Given the description of an element on the screen output the (x, y) to click on. 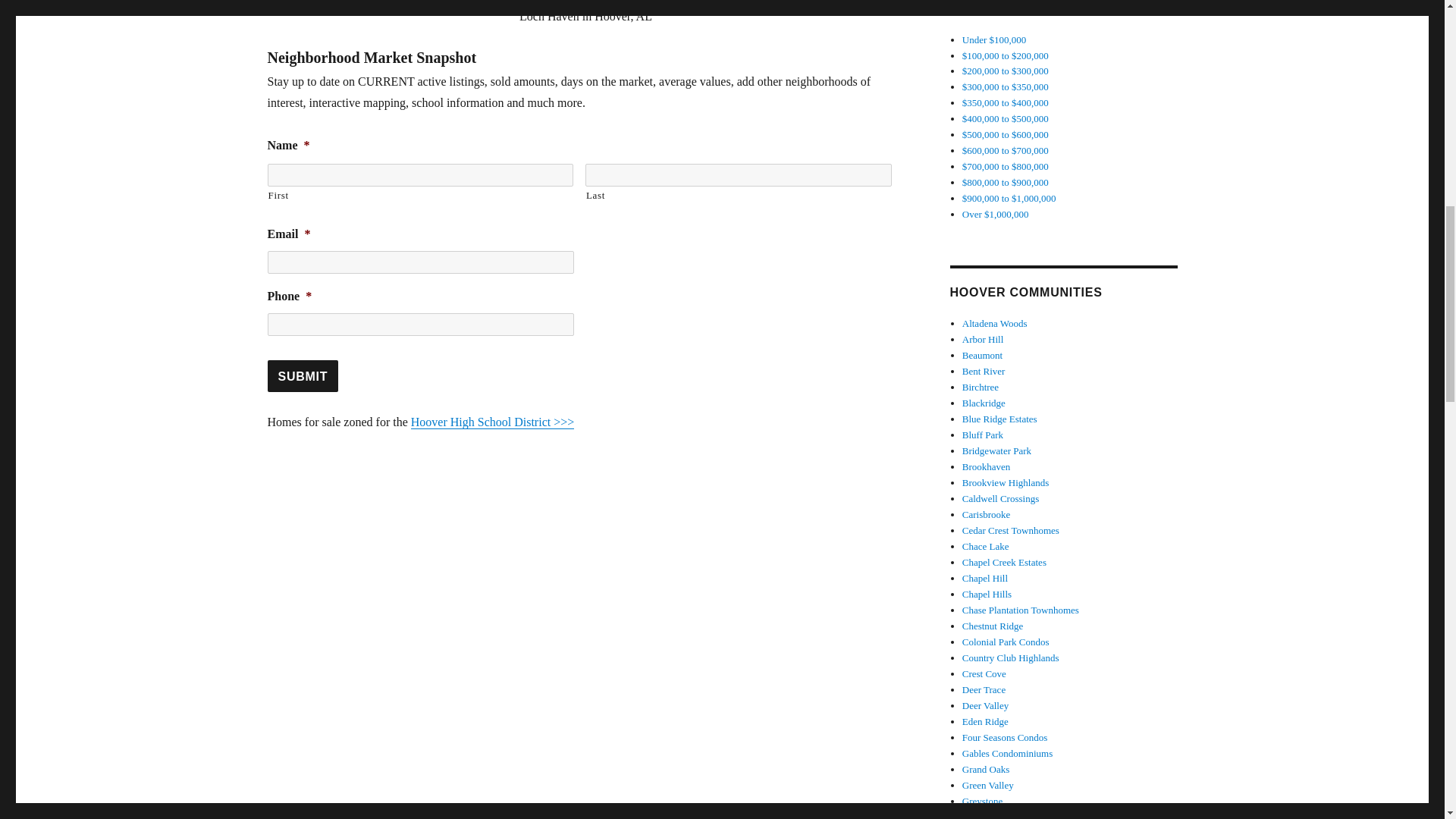
Submit (301, 376)
